Given the description of an element on the screen output the (x, y) to click on. 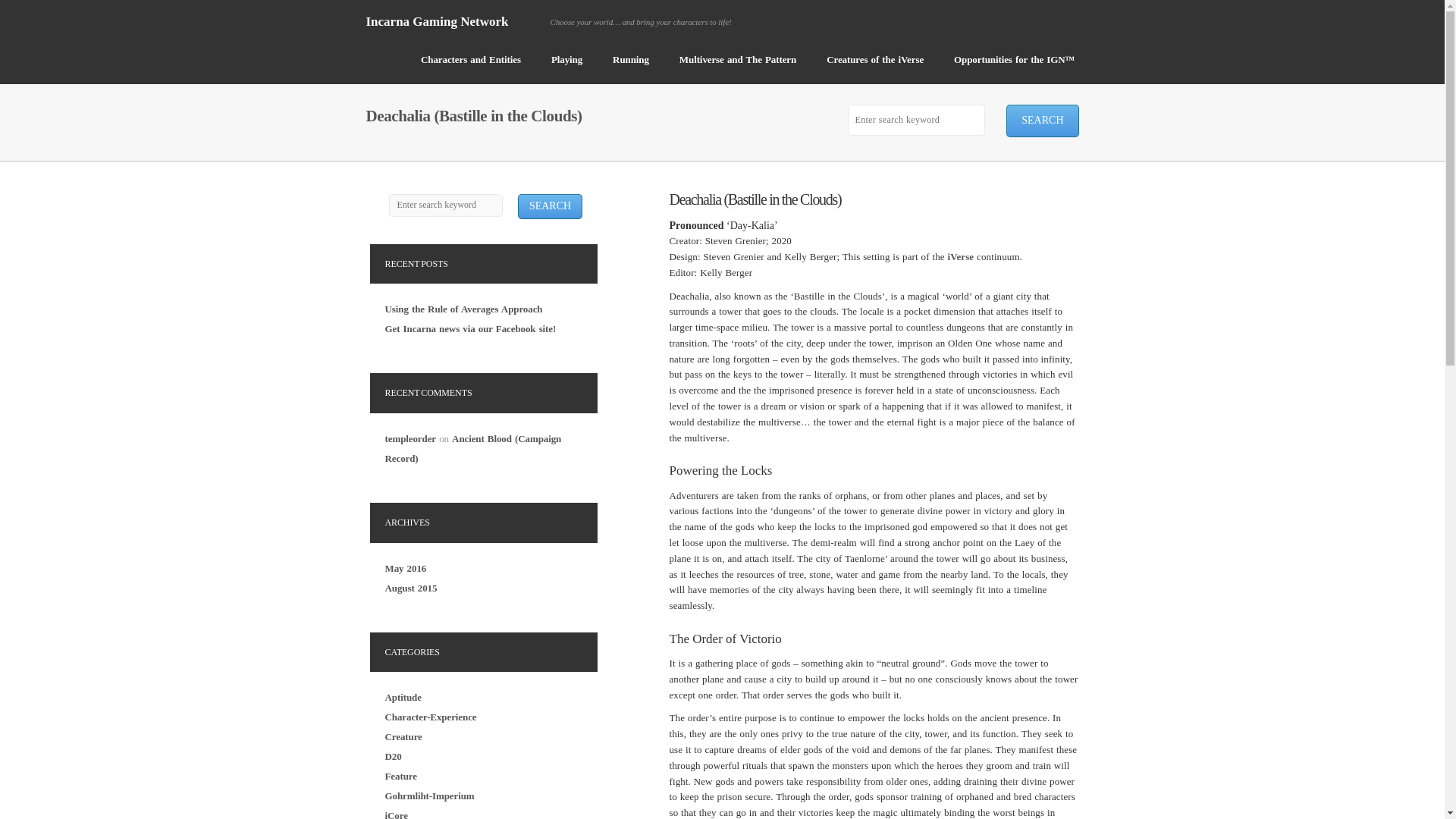
Using the Rule of Averages Approach (464, 308)
Character-Experience (431, 716)
Gohrmliht-Imperium (429, 795)
search (548, 206)
Aptitude (403, 696)
search (1042, 120)
May 2016 (405, 568)
search (1042, 120)
Playing (566, 66)
search (1042, 120)
Creatures of the iVerse (874, 66)
search (548, 206)
D20 (393, 756)
Opportunities (1014, 66)
iCore (396, 814)
